Given the description of an element on the screen output the (x, y) to click on. 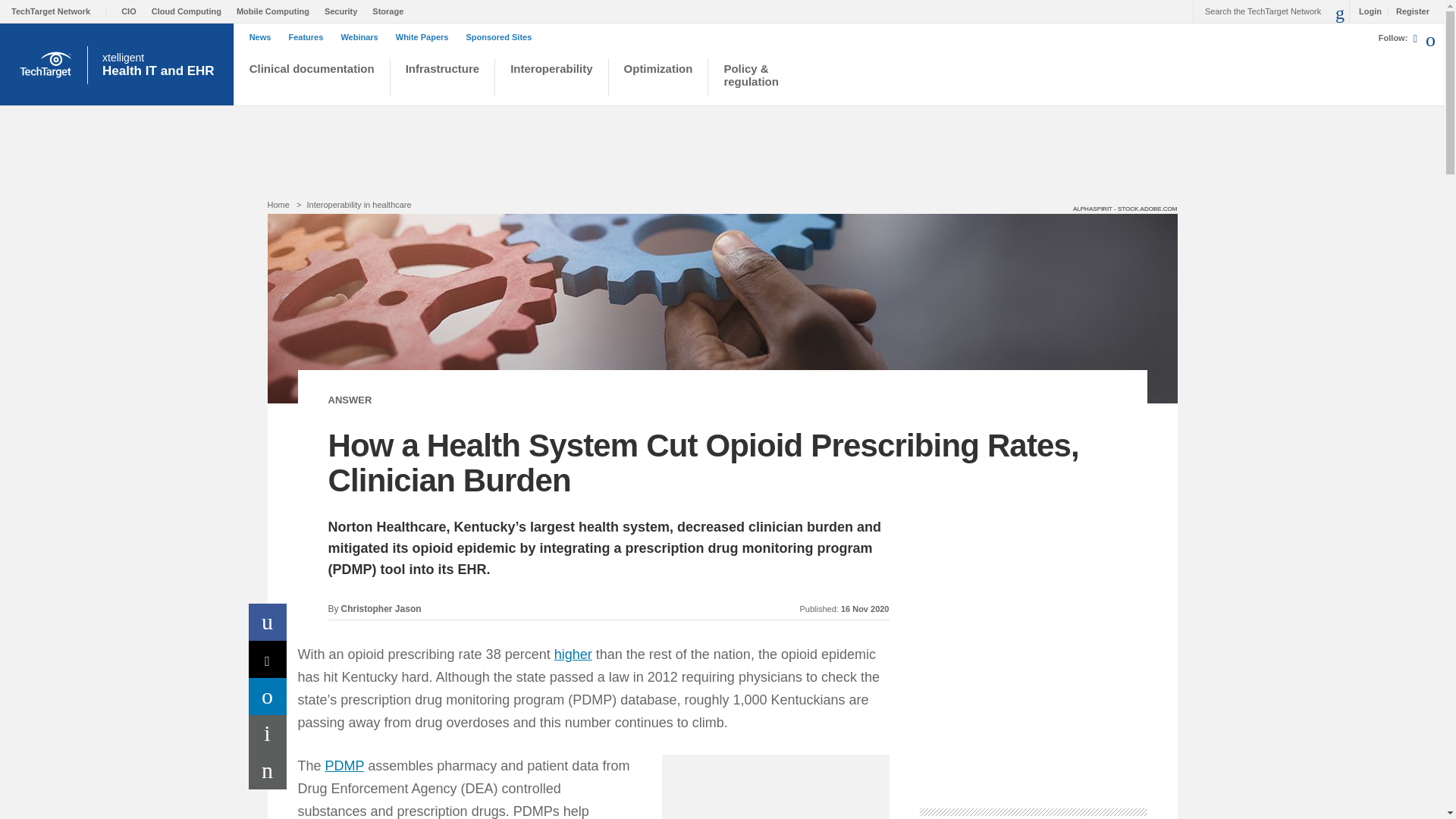
Optimization (658, 79)
Infrastructure (443, 79)
Login (1366, 10)
TechTarget Network (161, 64)
Clinical documentation (58, 10)
Share on LinkedIn (311, 79)
News (267, 696)
Register (263, 36)
White Papers (1408, 10)
